Given the description of an element on the screen output the (x, y) to click on. 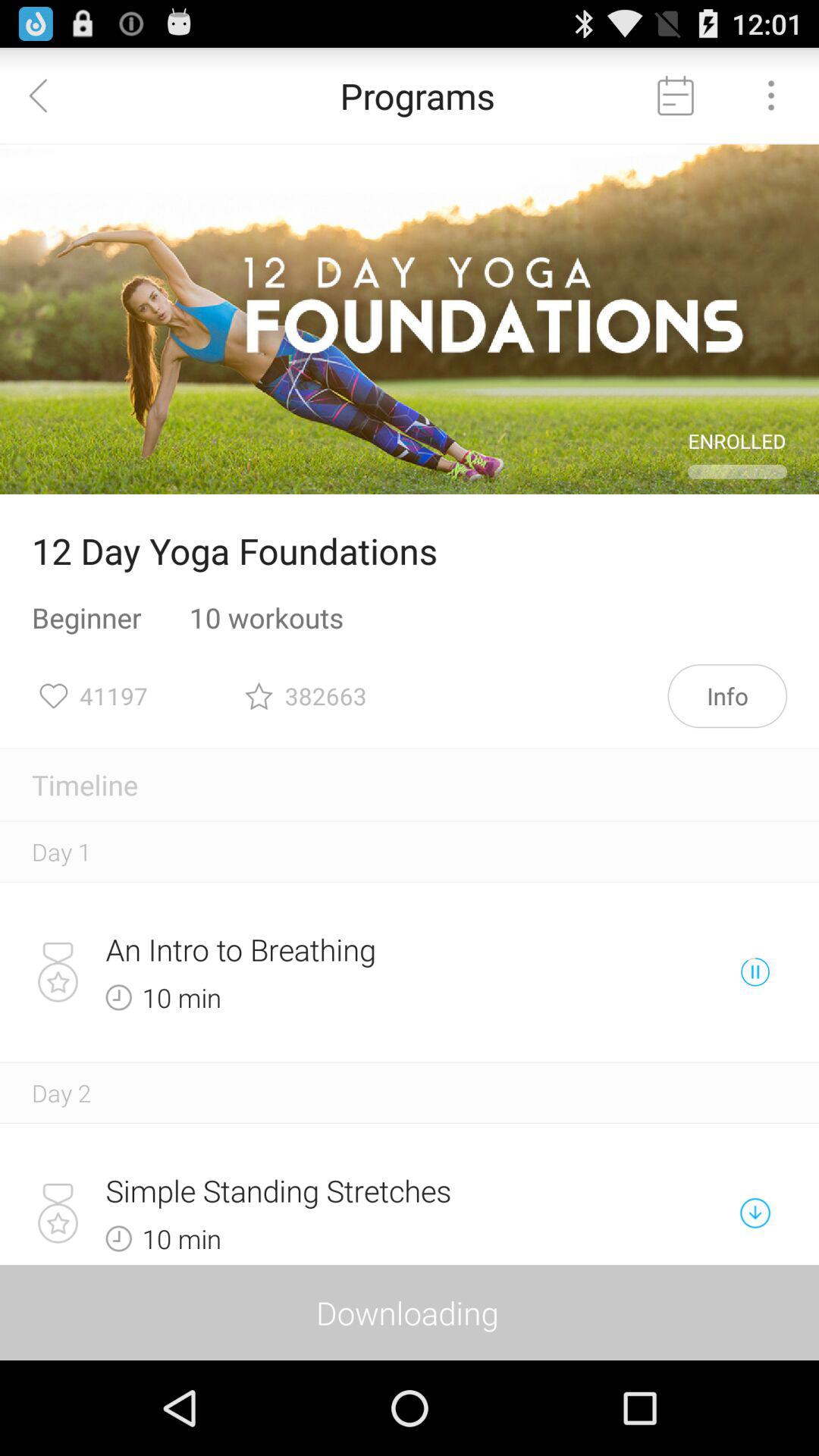
flip to info (727, 696)
